Given the description of an element on the screen output the (x, y) to click on. 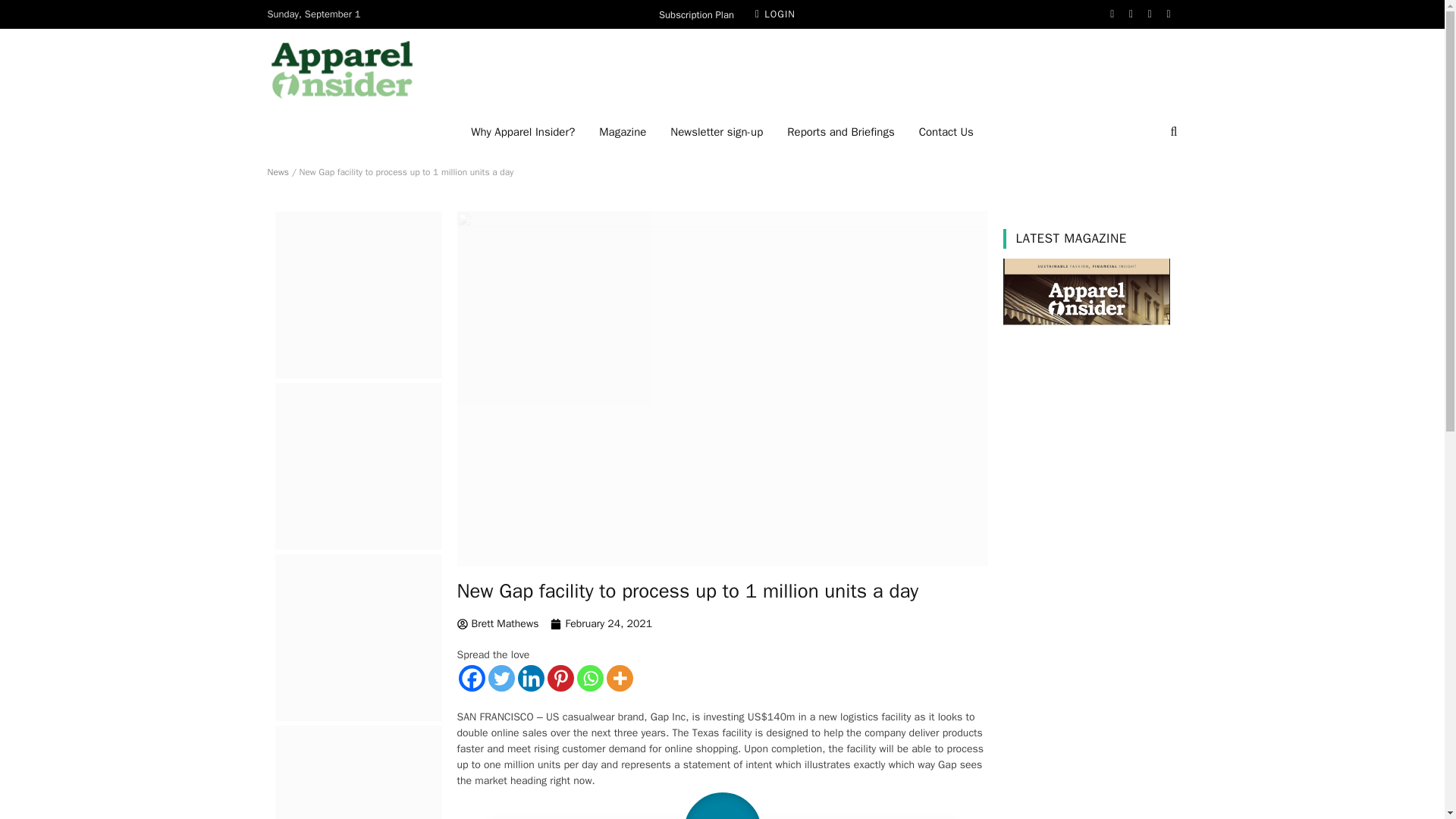
Twitter (501, 678)
February 24, 2021 (601, 623)
Apparel Insider (341, 70)
About Us (522, 131)
Magazine (622, 131)
Newsletter sign-up (716, 131)
Contact Us (946, 131)
Subscription Plan (696, 14)
LOGIN (774, 14)
Whatsapp (589, 678)
